Given the description of an element on the screen output the (x, y) to click on. 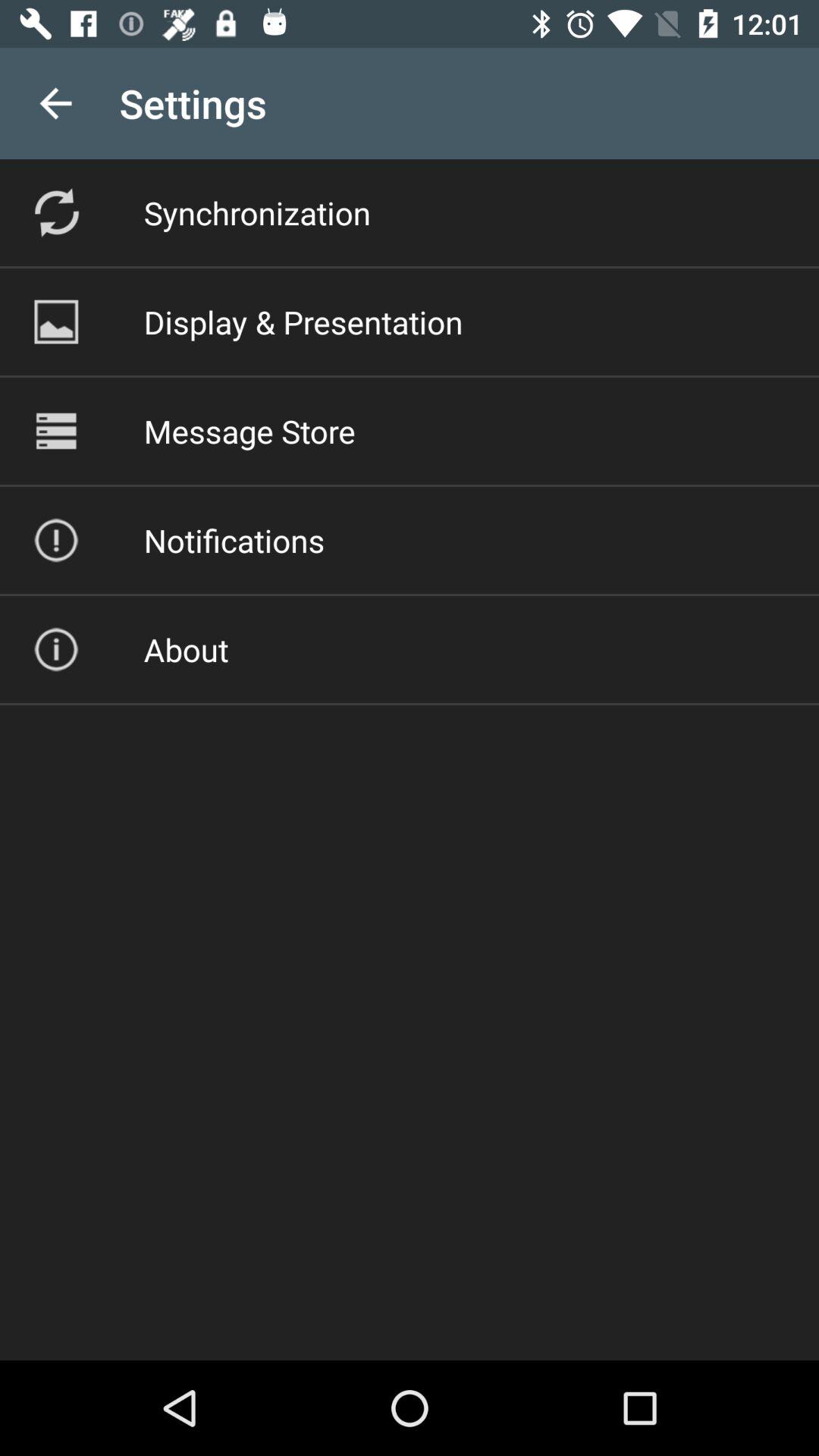
swipe to display & presentation icon (302, 321)
